Given the description of an element on the screen output the (x, y) to click on. 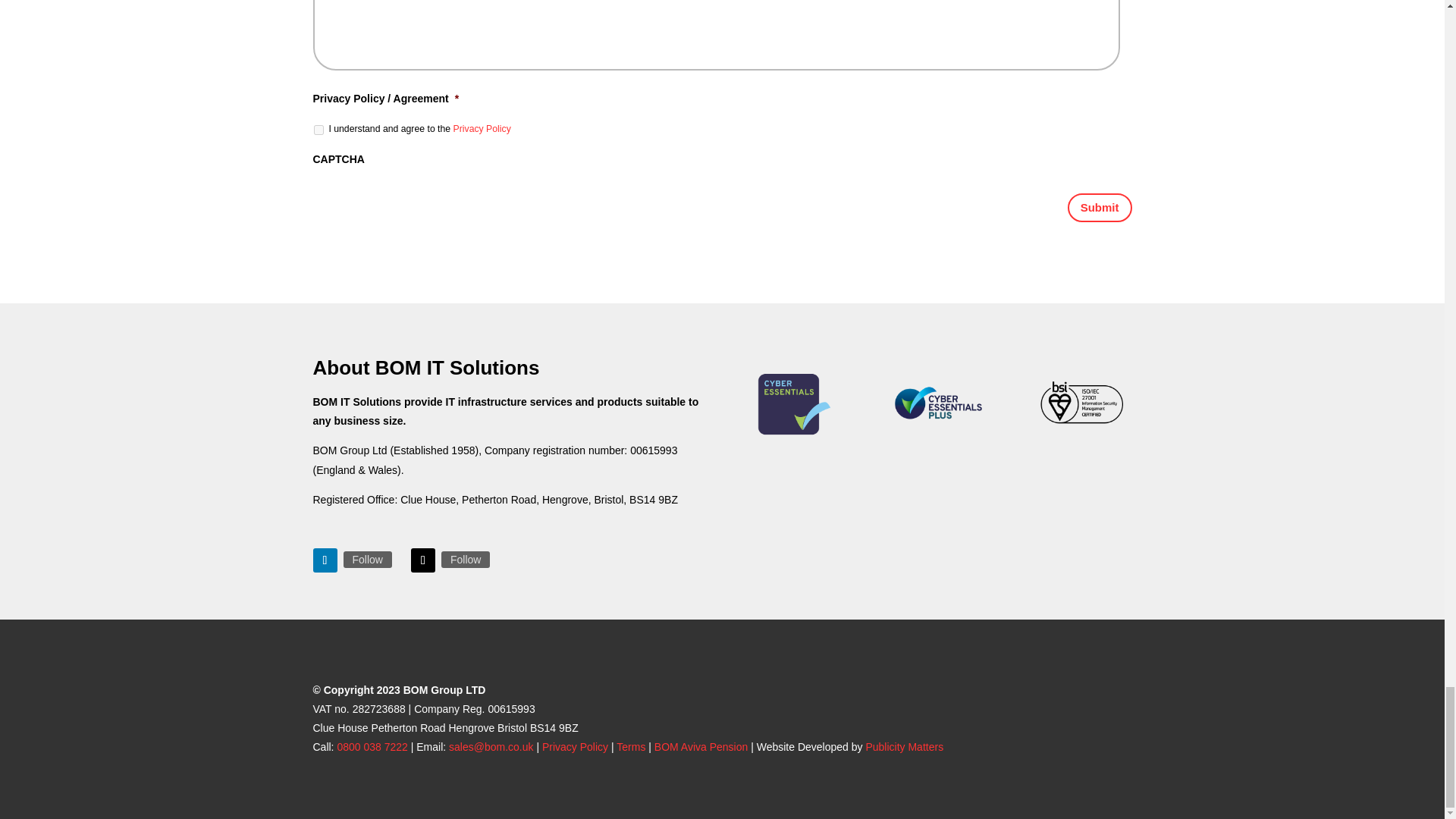
Twitter (465, 559)
Follow on Twitter (422, 559)
Follow on LinkedIn (324, 559)
LinkedIn (366, 559)
